Given the description of an element on the screen output the (x, y) to click on. 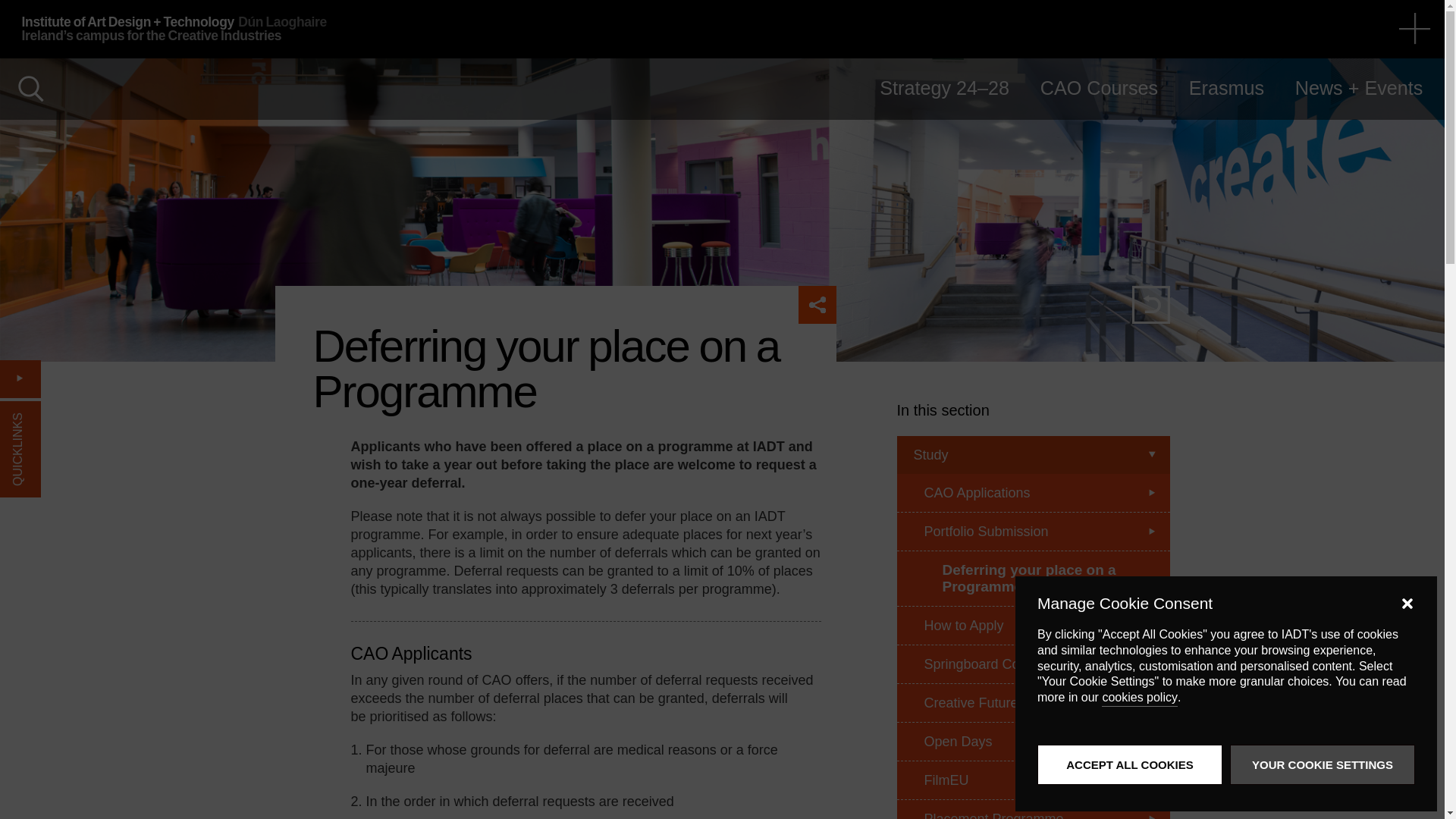
cookies policy (1139, 698)
How to Apply (1032, 625)
ACCEPT ALL COOKIES (1129, 764)
Creative Futures Academy (1032, 702)
Placement Programme (1032, 809)
FilmEU (1032, 780)
Open Days (1032, 740)
Springboard Courses (1032, 663)
Portfolio Submission (1032, 531)
Deferring your place on a Programme (1032, 578)
